Given the description of an element on the screen output the (x, y) to click on. 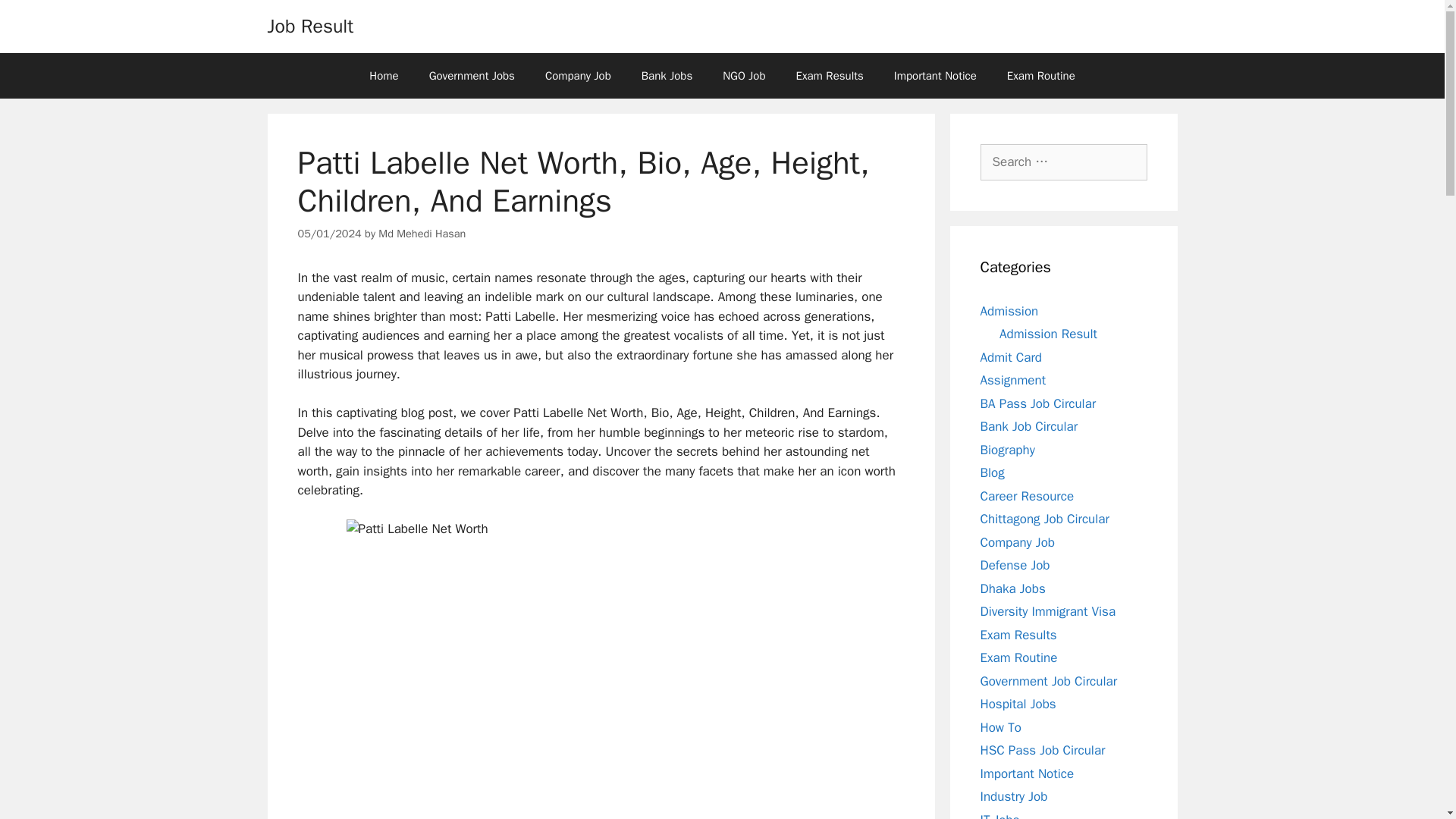
Career Resource (1026, 496)
Md Mehedi Hasan (421, 233)
Search for: (1063, 162)
Company Job (577, 75)
Admission (1008, 311)
Admission Result (1047, 333)
Exam Routine (1040, 75)
Bank Jobs (666, 75)
Admit Card (1010, 356)
BA Pass Job Circular (1037, 403)
